Given the description of an element on the screen output the (x, y) to click on. 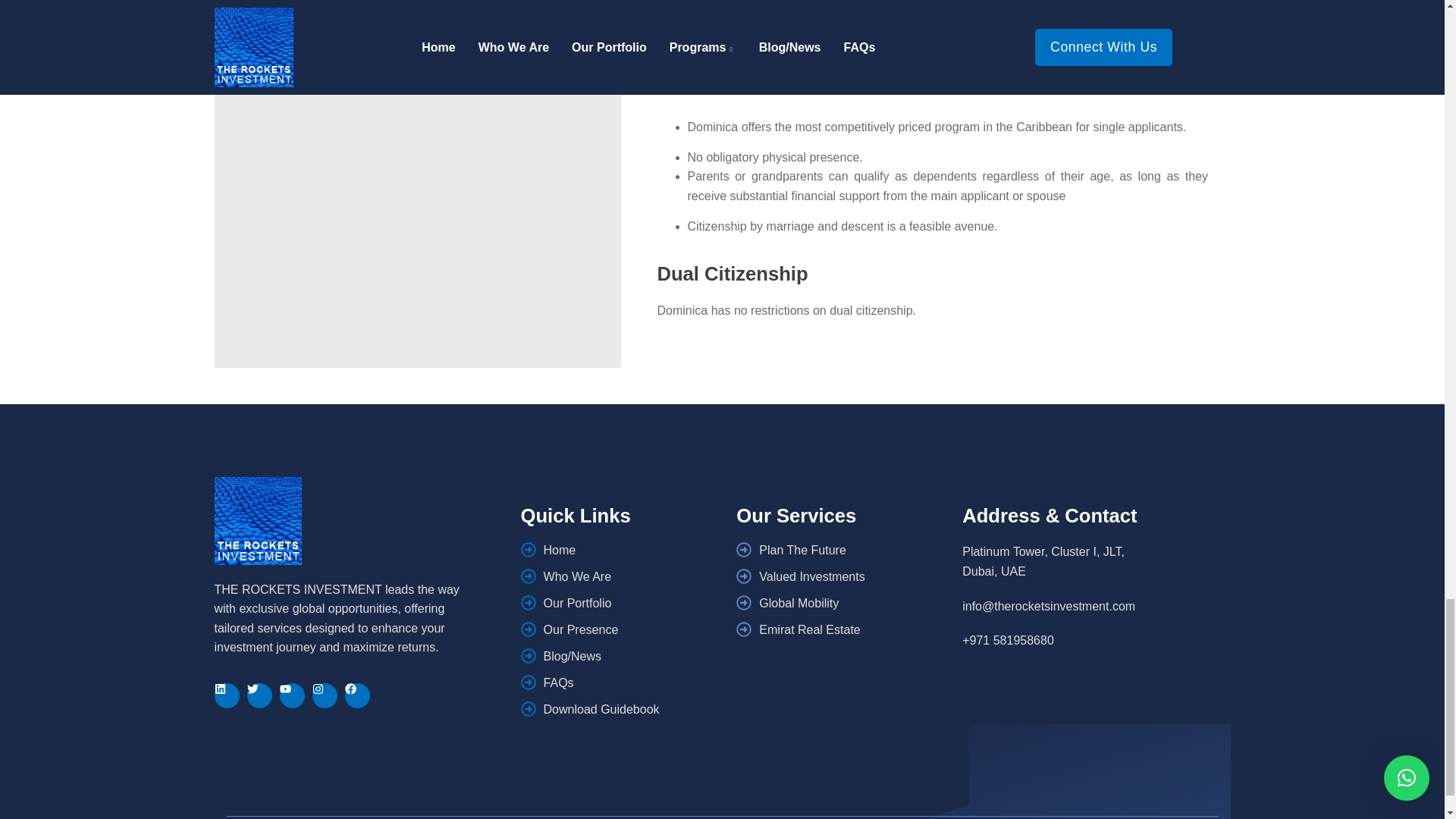
Who We Are (625, 575)
Home (625, 549)
Our Portfolio (625, 602)
Our Presence (625, 629)
FAQs (625, 682)
